Given the description of an element on the screen output the (x, y) to click on. 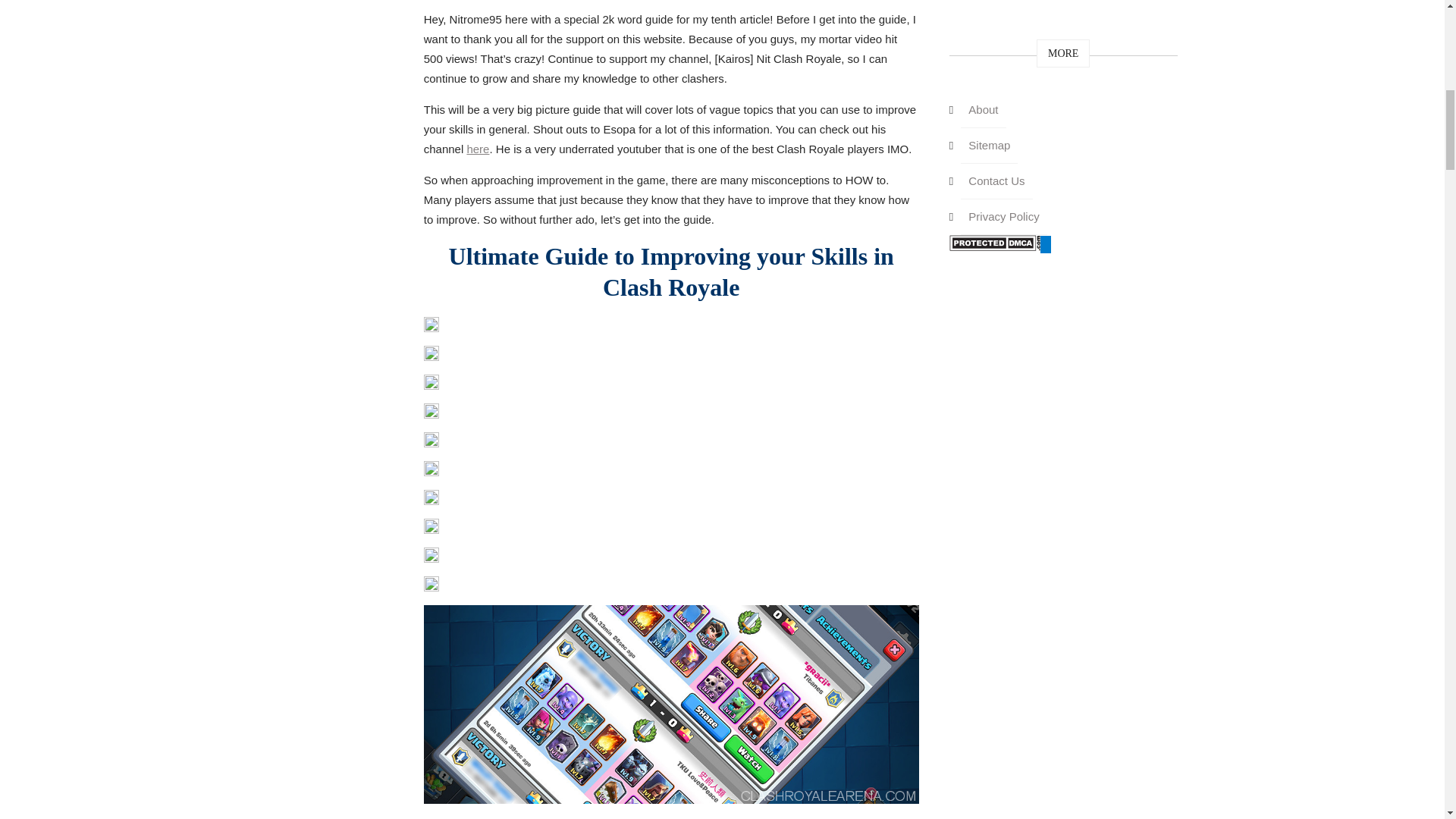
Advertisement (670, 4)
About (983, 109)
Sitemap (988, 144)
here (477, 148)
DMCA.com Protection Status (995, 244)
Contact Us (996, 181)
